Given the description of an element on the screen output the (x, y) to click on. 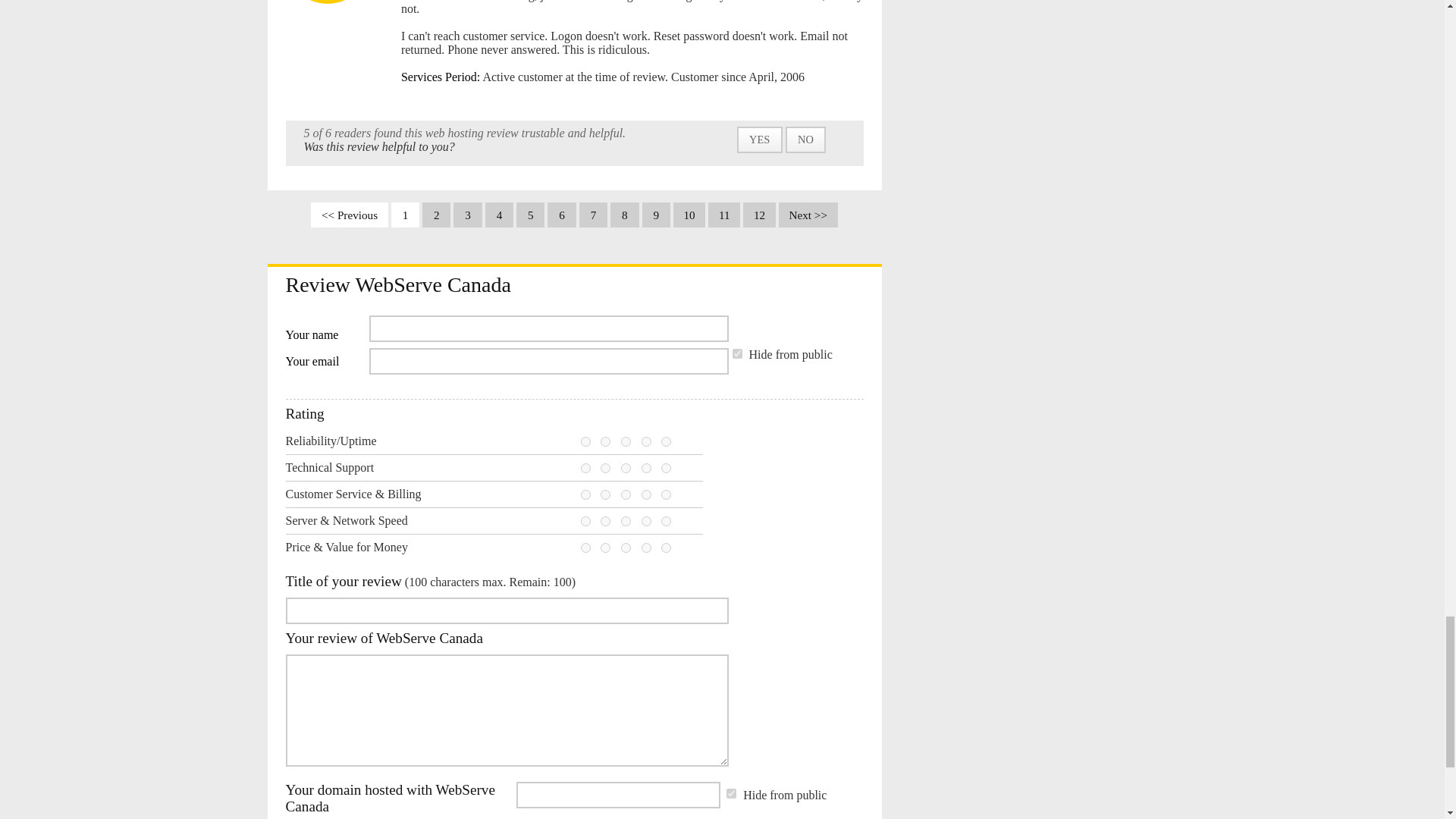
4 (646, 494)
4 (646, 441)
Best (666, 441)
2 (604, 468)
2 (604, 441)
3 (625, 441)
Worst (585, 441)
Bad (604, 468)
1 (585, 494)
OK (625, 494)
